Given the description of an element on the screen output the (x, y) to click on. 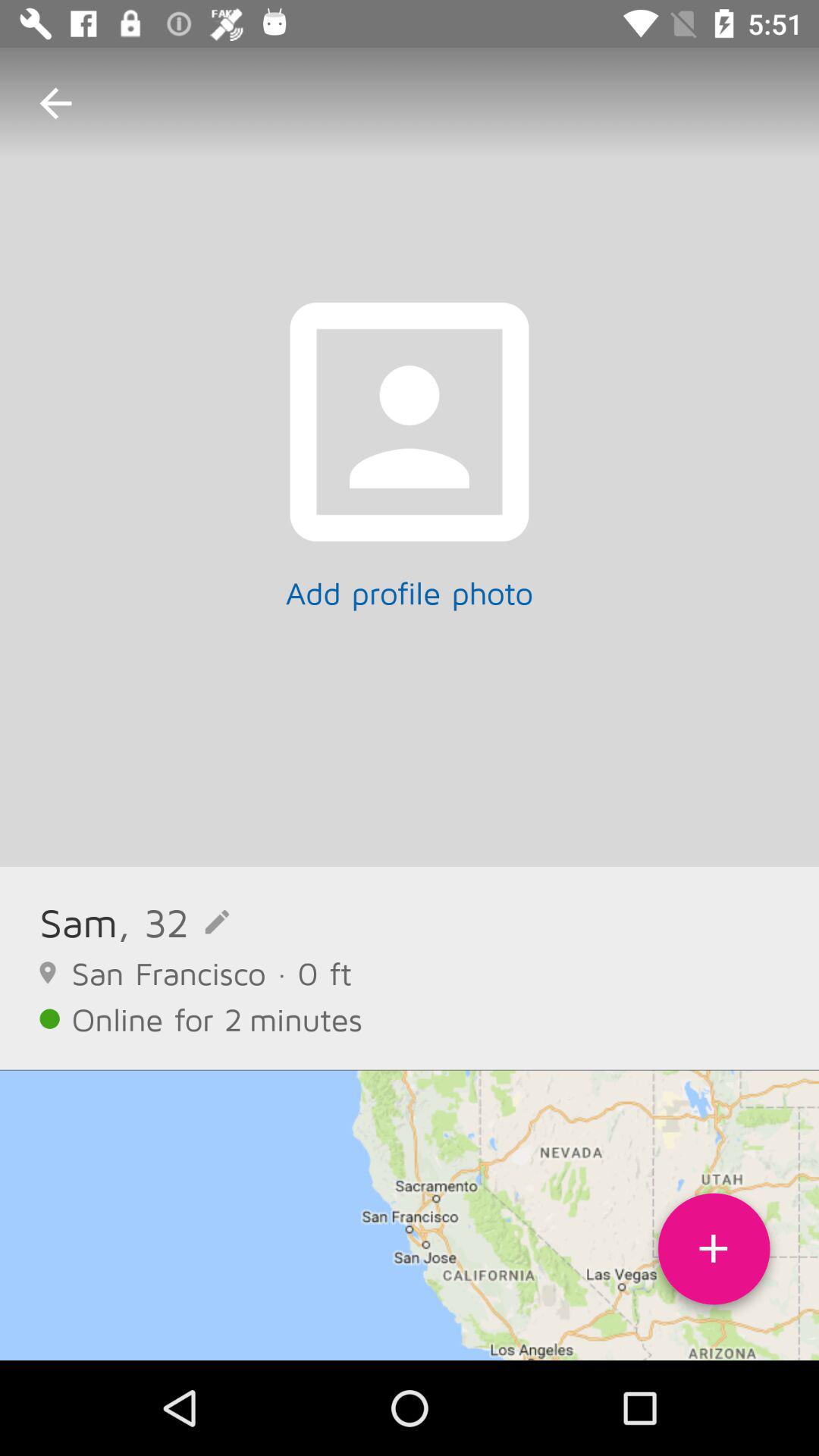
select icon at the bottom right corner (713, 1254)
